Given the description of an element on the screen output the (x, y) to click on. 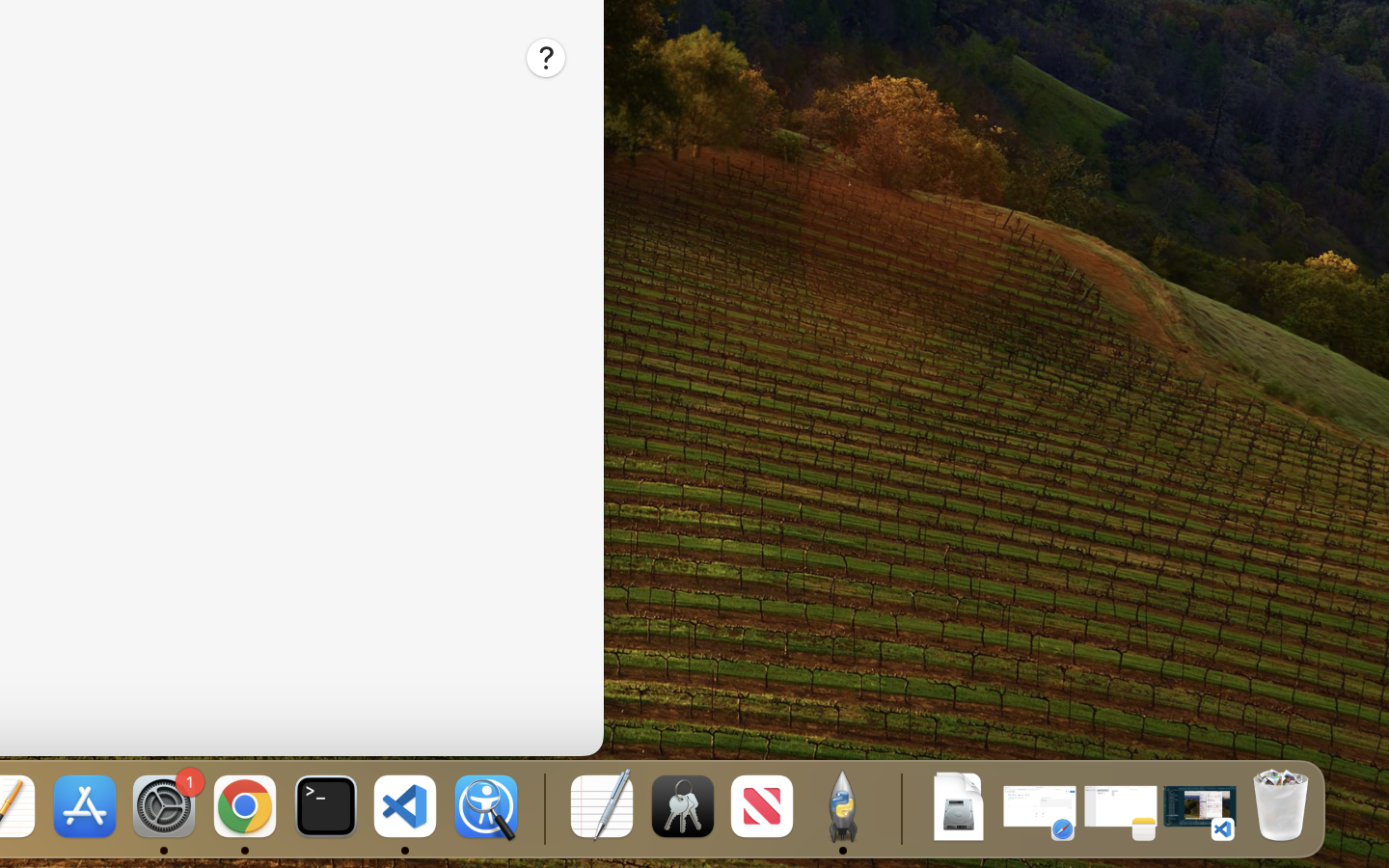
0.4285714328289032 Element type: AXDockItem (541, 807)
